Given the description of an element on the screen output the (x, y) to click on. 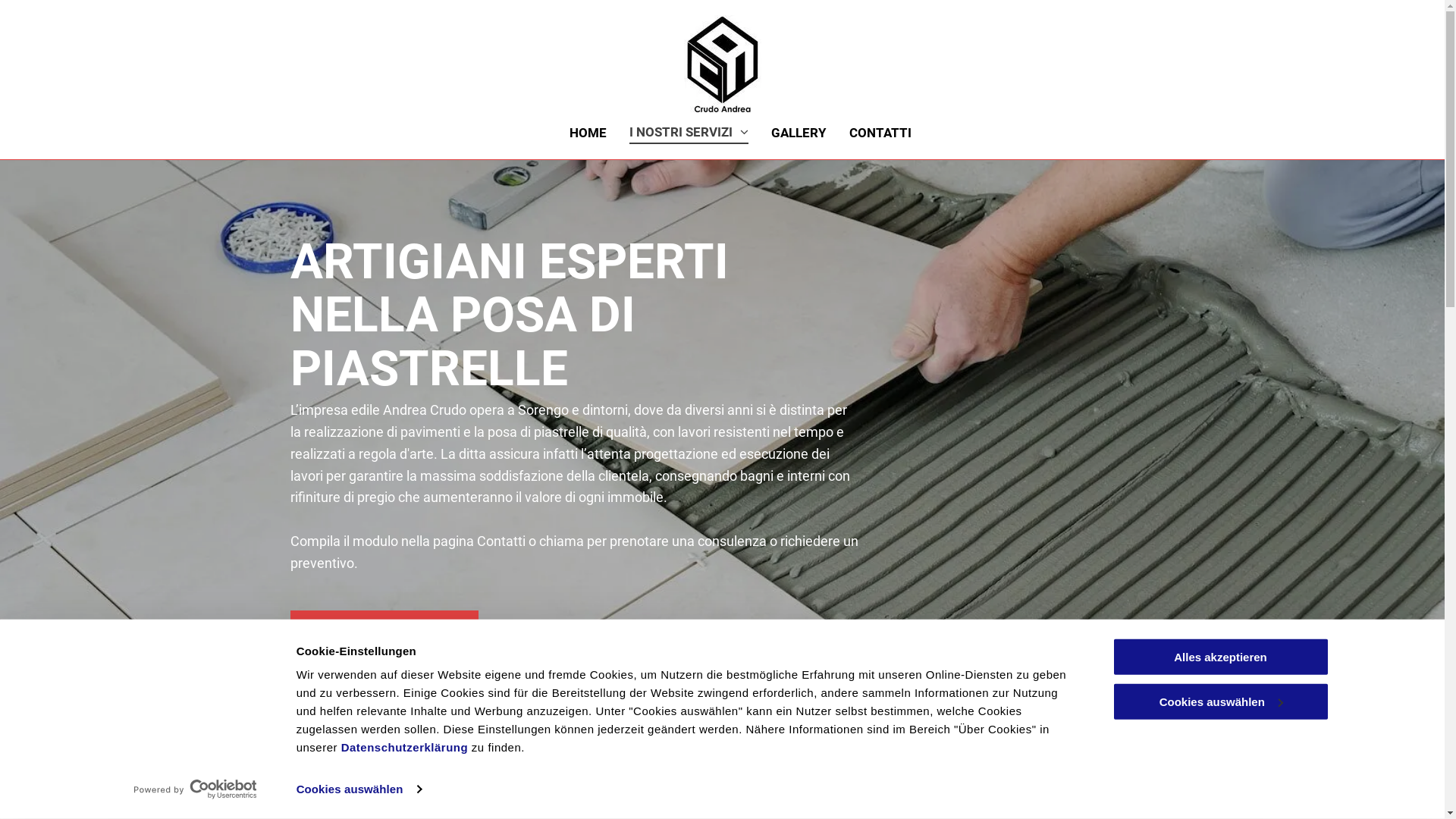
GALLERY Element type: text (798, 132)
CONTATTI Element type: text (880, 132)
Alles akzeptieren Element type: text (1219, 656)
I NOSTRI SERVIZI Element type: text (688, 132)
RICHIEDI UN PREVENTIVO Element type: text (383, 631)
HOME Element type: text (587, 132)
